Given the description of an element on the screen output the (x, y) to click on. 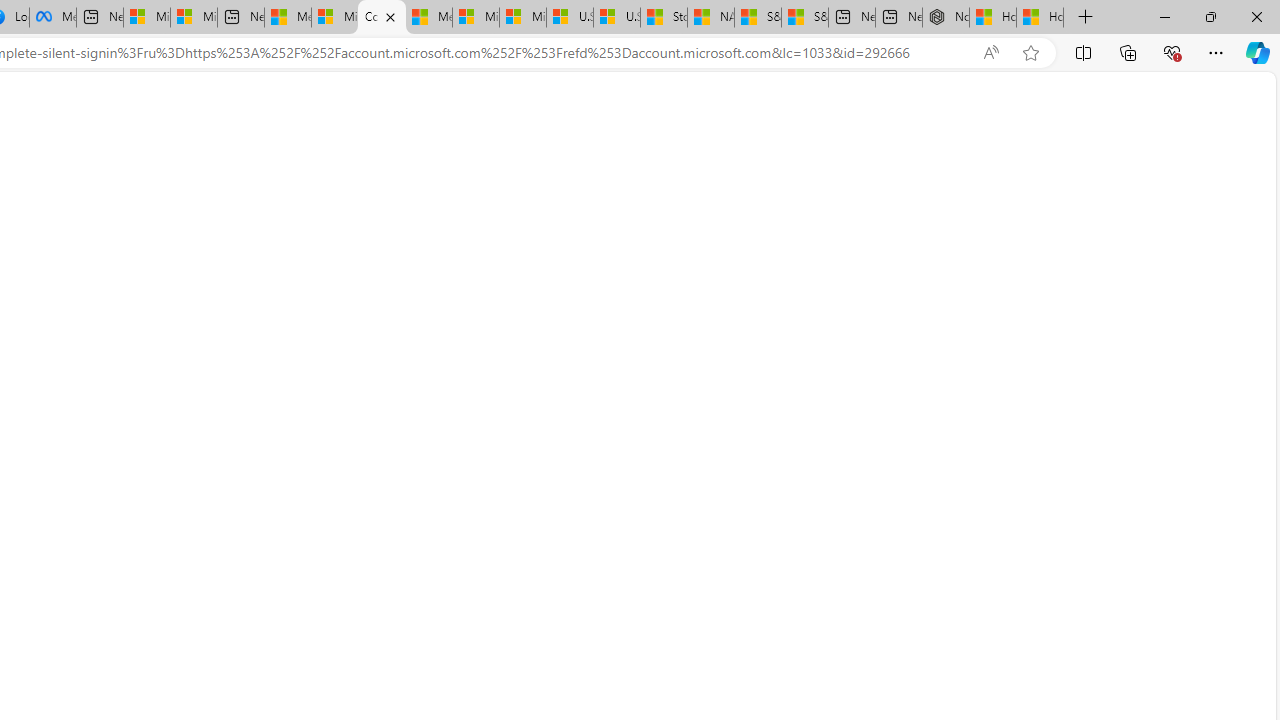
Meta Store (52, 17)
Microsoft account | Home (381, 17)
